Given the description of an element on the screen output the (x, y) to click on. 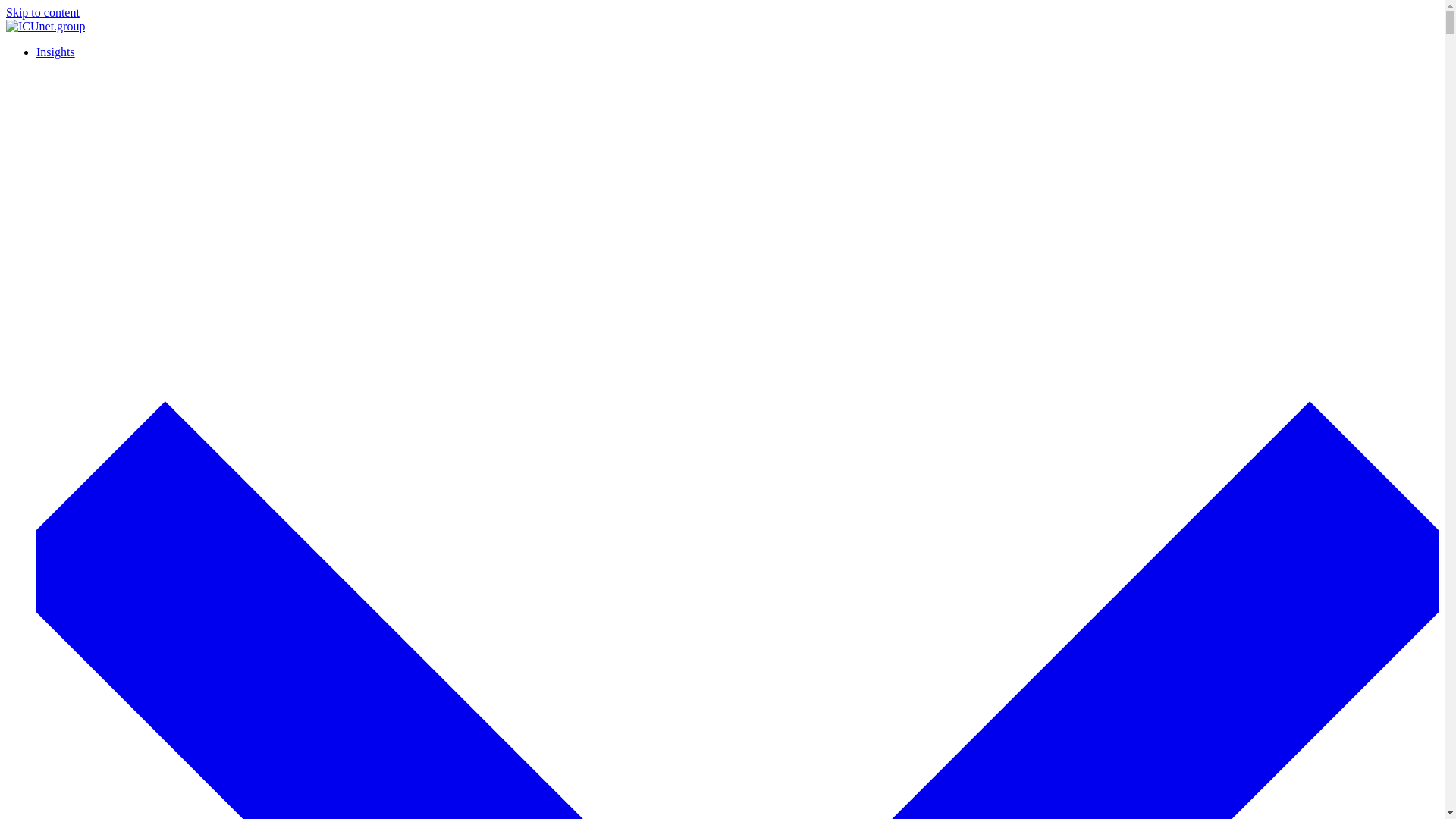
Skip to content (42, 11)
